Given the description of an element on the screen output the (x, y) to click on. 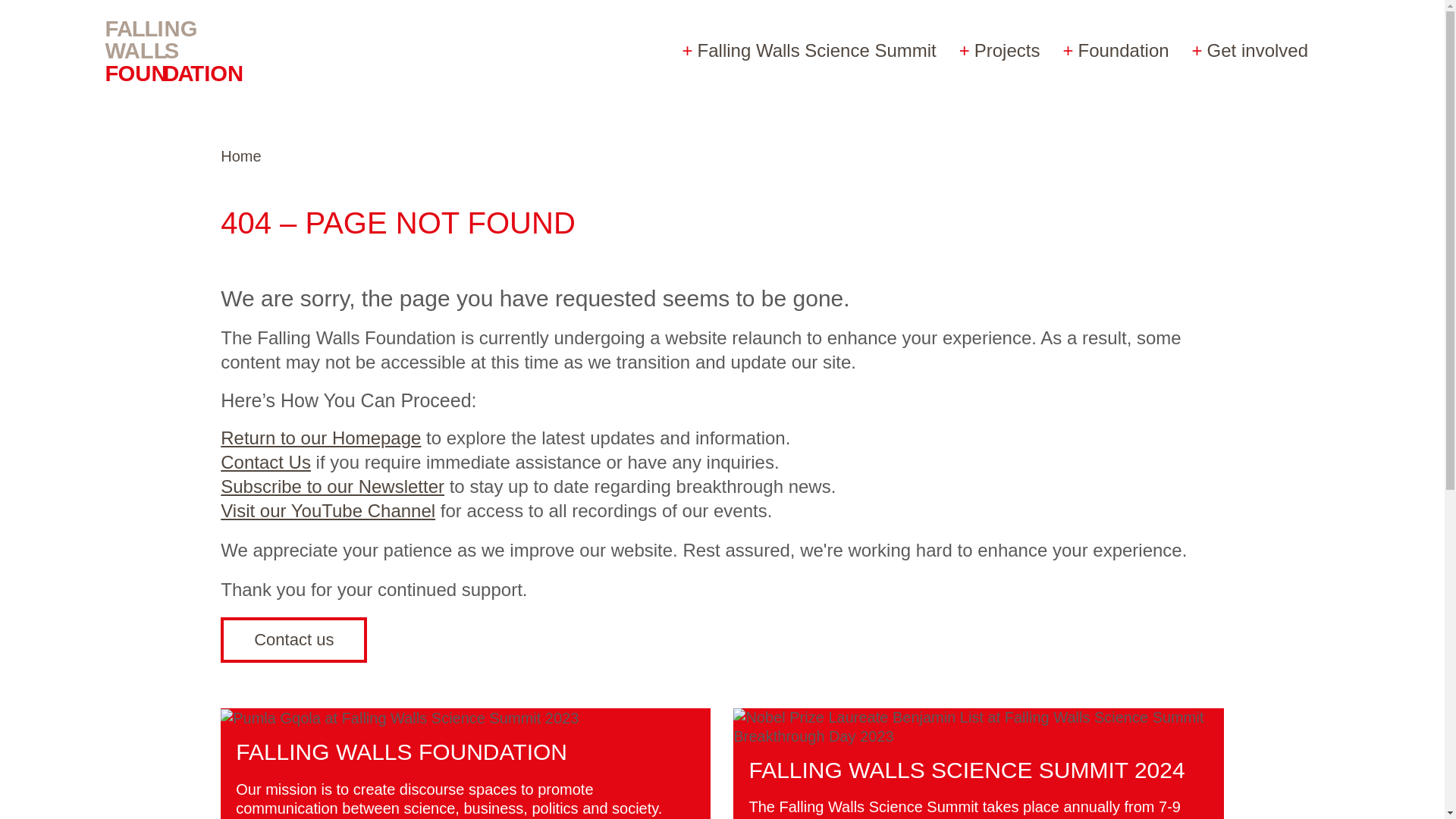
Expand menu Falling Walls Science Summit (809, 50)
Expand menu Projects (999, 50)
Contact us (293, 639)
Expand menu Foundation (1115, 50)
Skip to main content (83, 15)
Subscribe to our Newsletter (332, 485)
FALLING WALLS FOUNDATION (401, 751)
Expand menu Get involved (1249, 50)
FALLING WALLS SCIENCE SUMMIT 2024 (966, 769)
Return to our Homepage (320, 437)
Home (240, 156)
Contact Us (266, 462)
Visit our YouTube Channel (328, 510)
Home (188, 50)
